Given the description of an element on the screen output the (x, y) to click on. 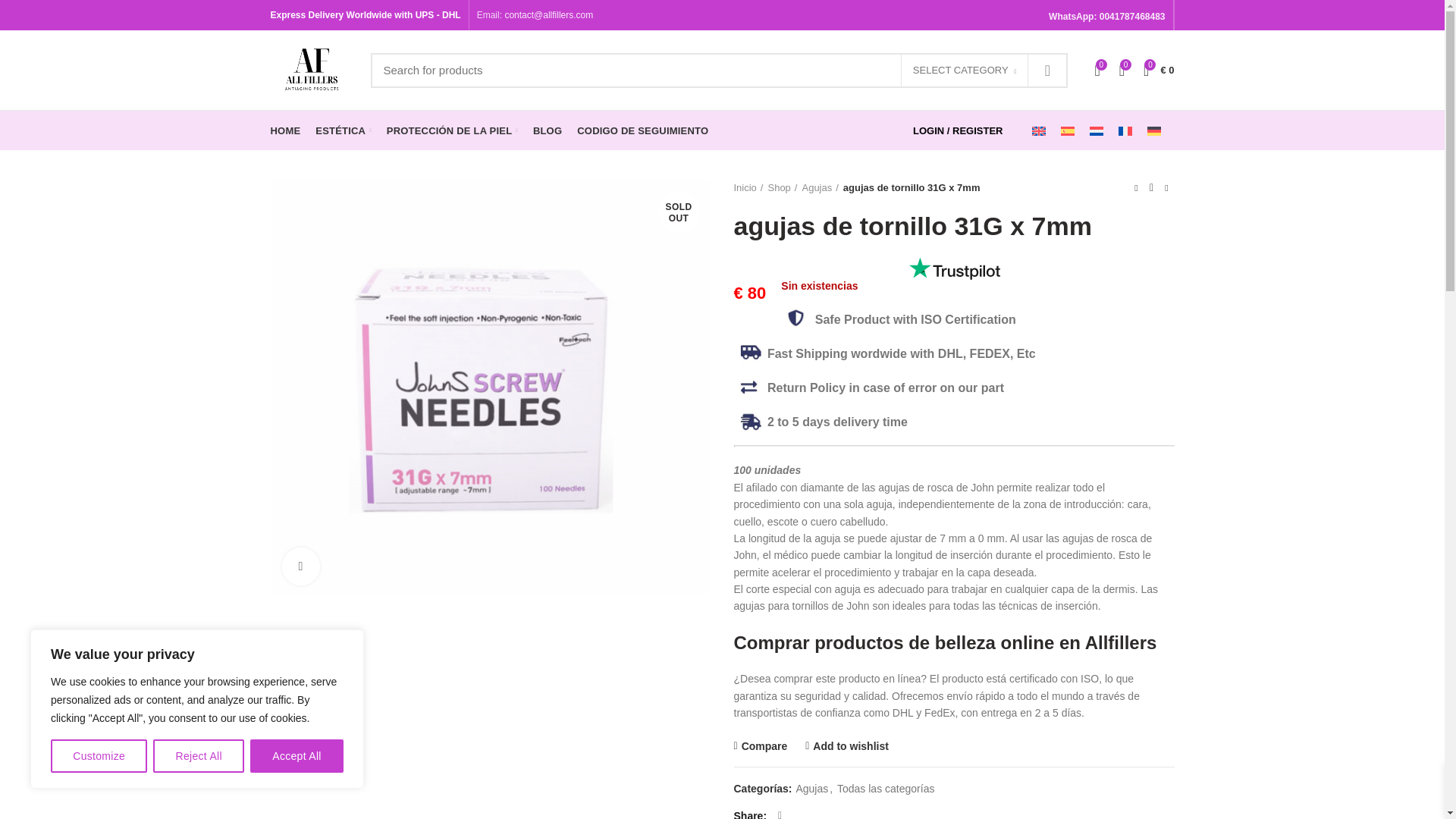
My account (957, 129)
SELECT CATEGORY (964, 70)
SELECT CATEGORY (965, 70)
SEARCH (1046, 70)
Customize (98, 756)
Accept All (296, 756)
Reject All (198, 756)
Shopping cart (1157, 69)
WhatsApp: 0041787468483 (1106, 16)
